Given the description of an element on the screen output the (x, y) to click on. 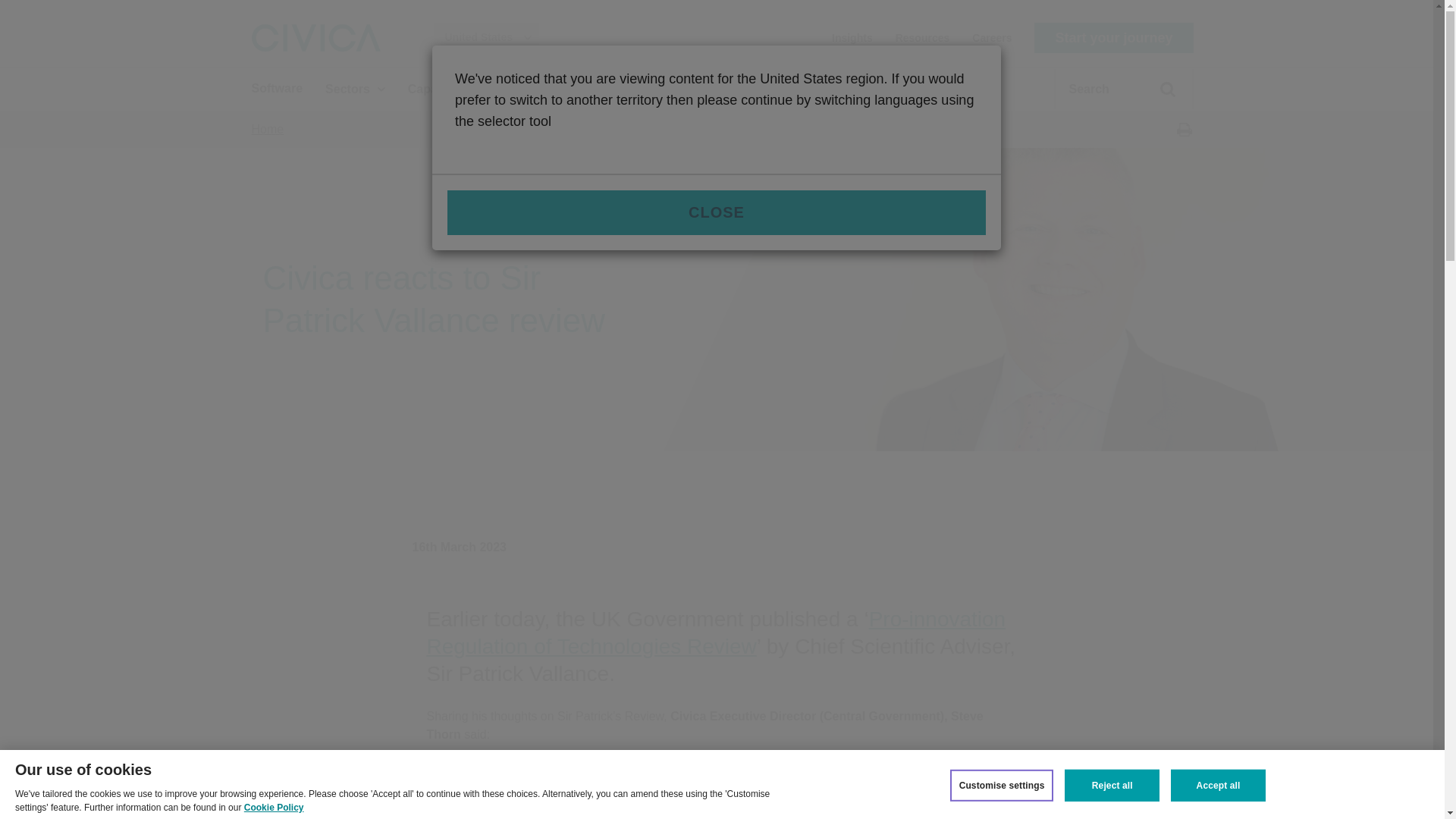
Careers (991, 37)
Search (1159, 95)
United States (485, 37)
Insights (851, 37)
Capabilities (449, 88)
Sectors (354, 88)
Search (1159, 95)
CLOSE (715, 212)
Opens in a new window (716, 632)
Resources (922, 37)
Start your journey (1112, 37)
Software (276, 88)
